Given the description of an element on the screen output the (x, y) to click on. 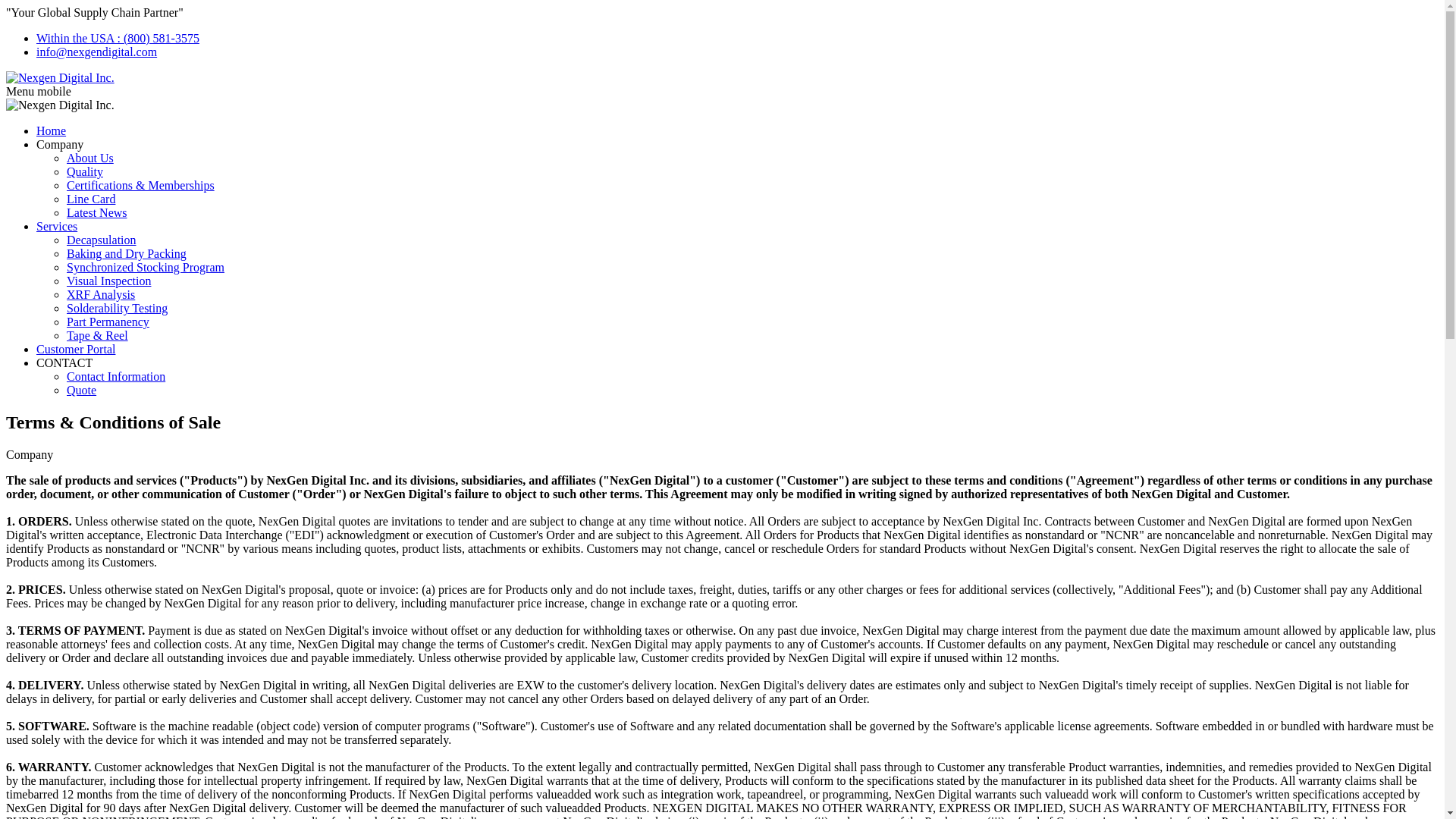
CONTACT (64, 362)
Visual Inspection (108, 280)
Synchronized Stocking Program (145, 267)
XRF Analysis (100, 294)
Company (59, 144)
Quality (84, 171)
Latest News (97, 212)
Services (56, 226)
Part Permanency (107, 321)
